Given the description of an element on the screen output the (x, y) to click on. 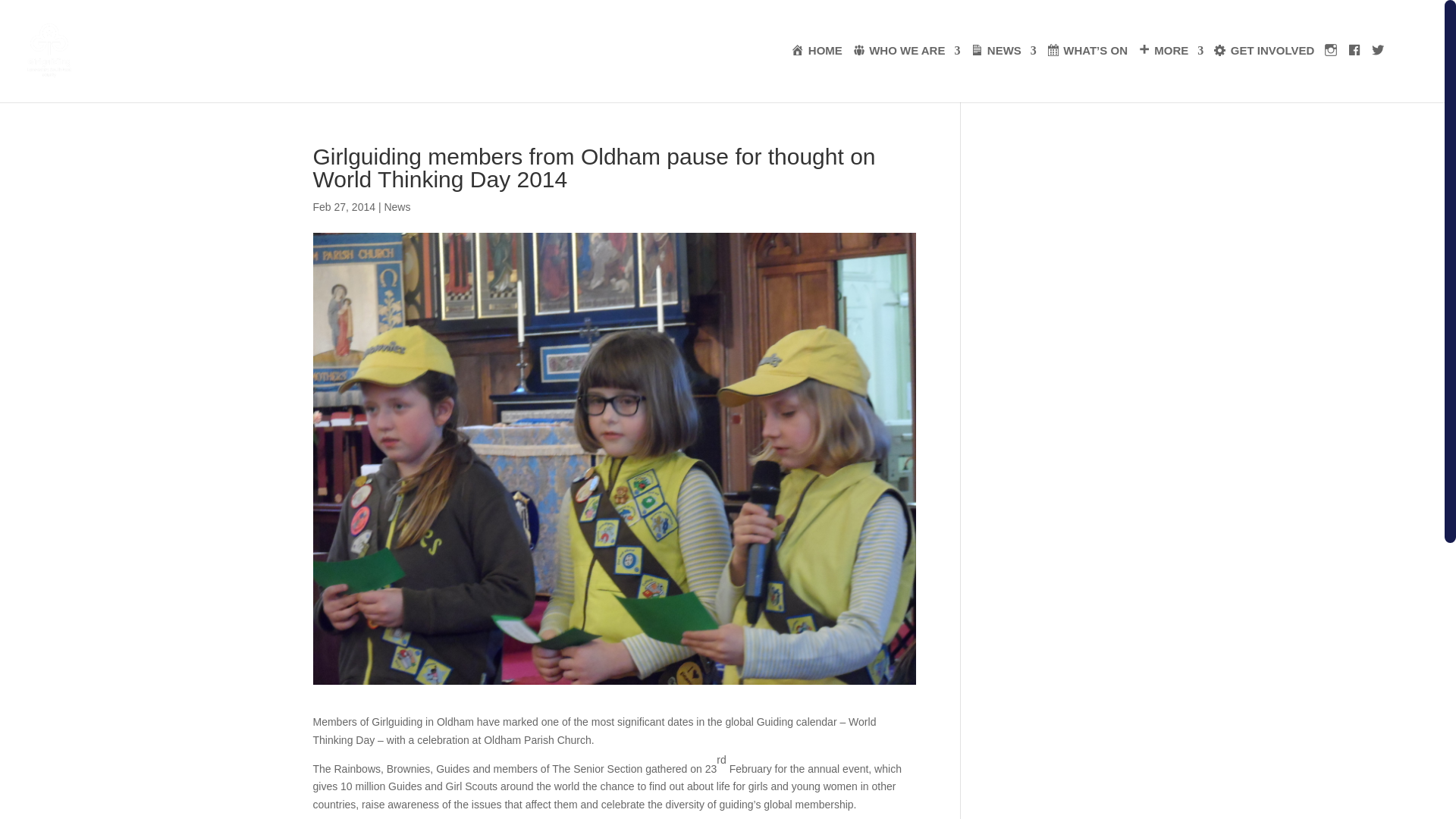
NEWS (1002, 57)
WHO WE ARE (905, 57)
MORE (1170, 57)
HOME (816, 57)
GET INVOLVED (1263, 57)
